Given the description of an element on the screen output the (x, y) to click on. 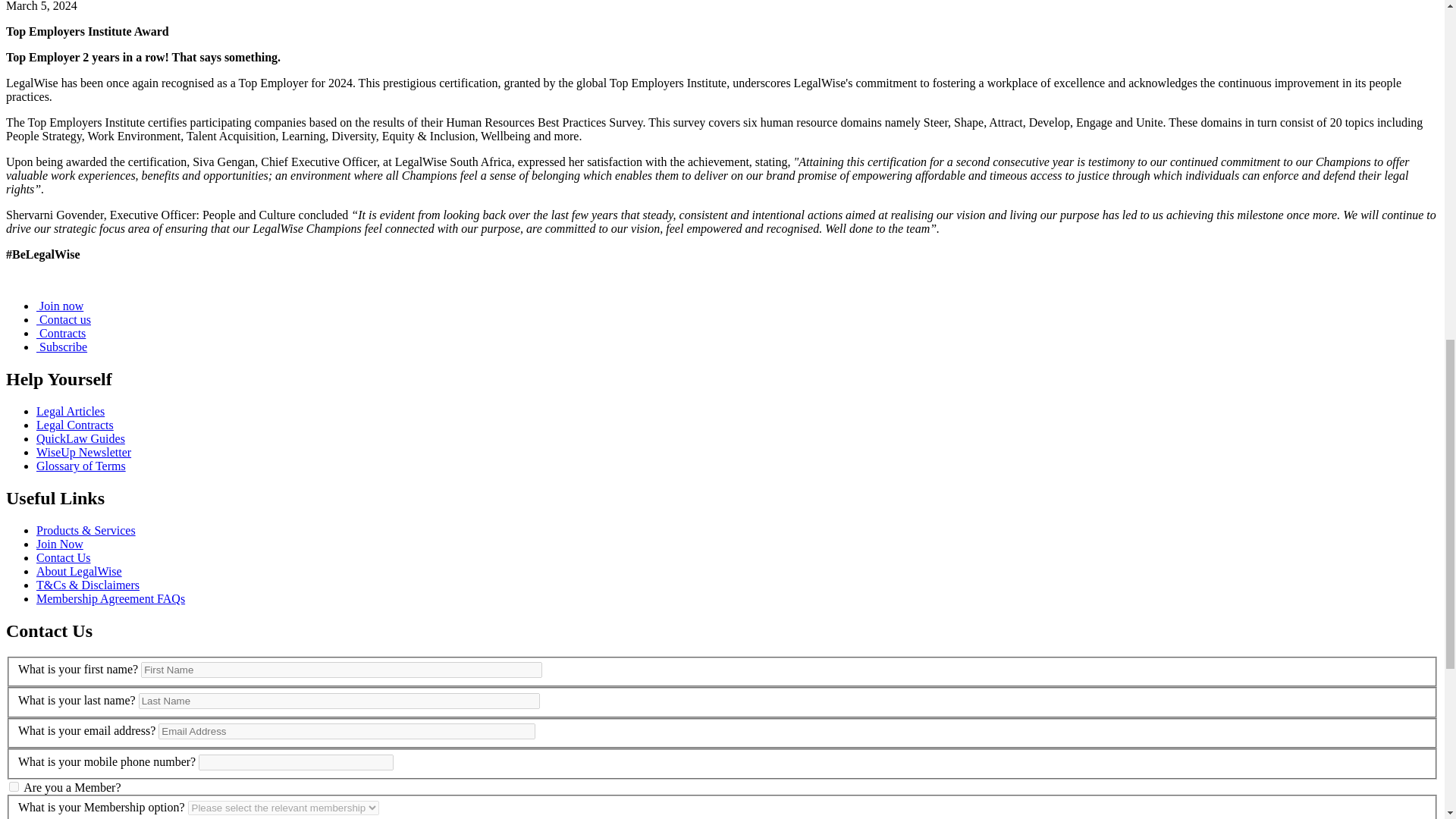
Read our WiseUp newsletter. (83, 451)
Browse our QuickLaw guides. (80, 438)
Know your legal terms. (80, 465)
Browse the benefits of joining the LegalWise family. (85, 530)
Browse our legal articles. (70, 410)
Join LegalWise to have the law on your side. (59, 543)
Download free legal agreements. (74, 424)
1 (13, 786)
Contact LegalWise with any questions or queries. (63, 557)
